Given the description of an element on the screen output the (x, y) to click on. 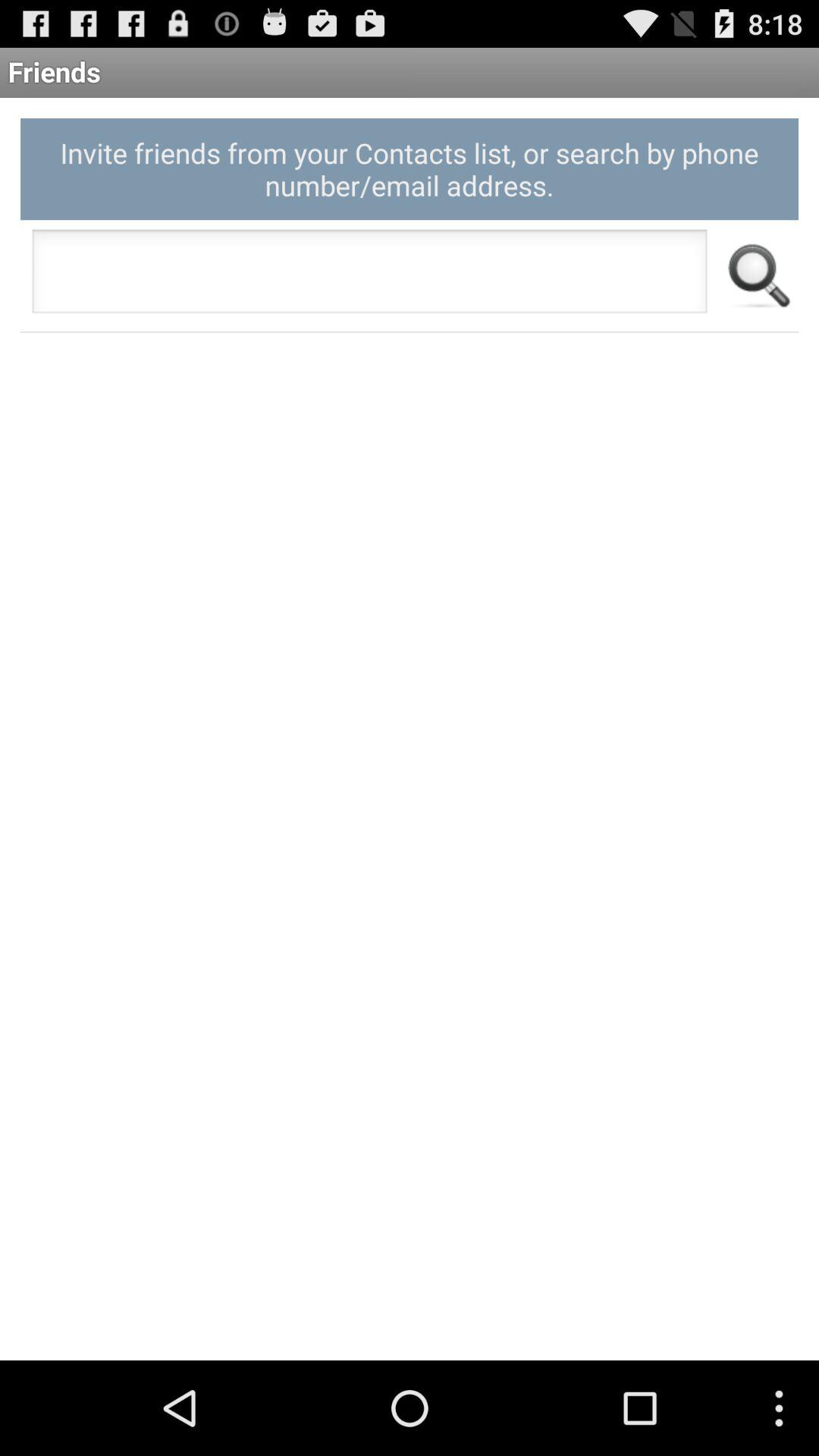
launch the app below friends icon (409, 169)
